Given the description of an element on the screen output the (x, y) to click on. 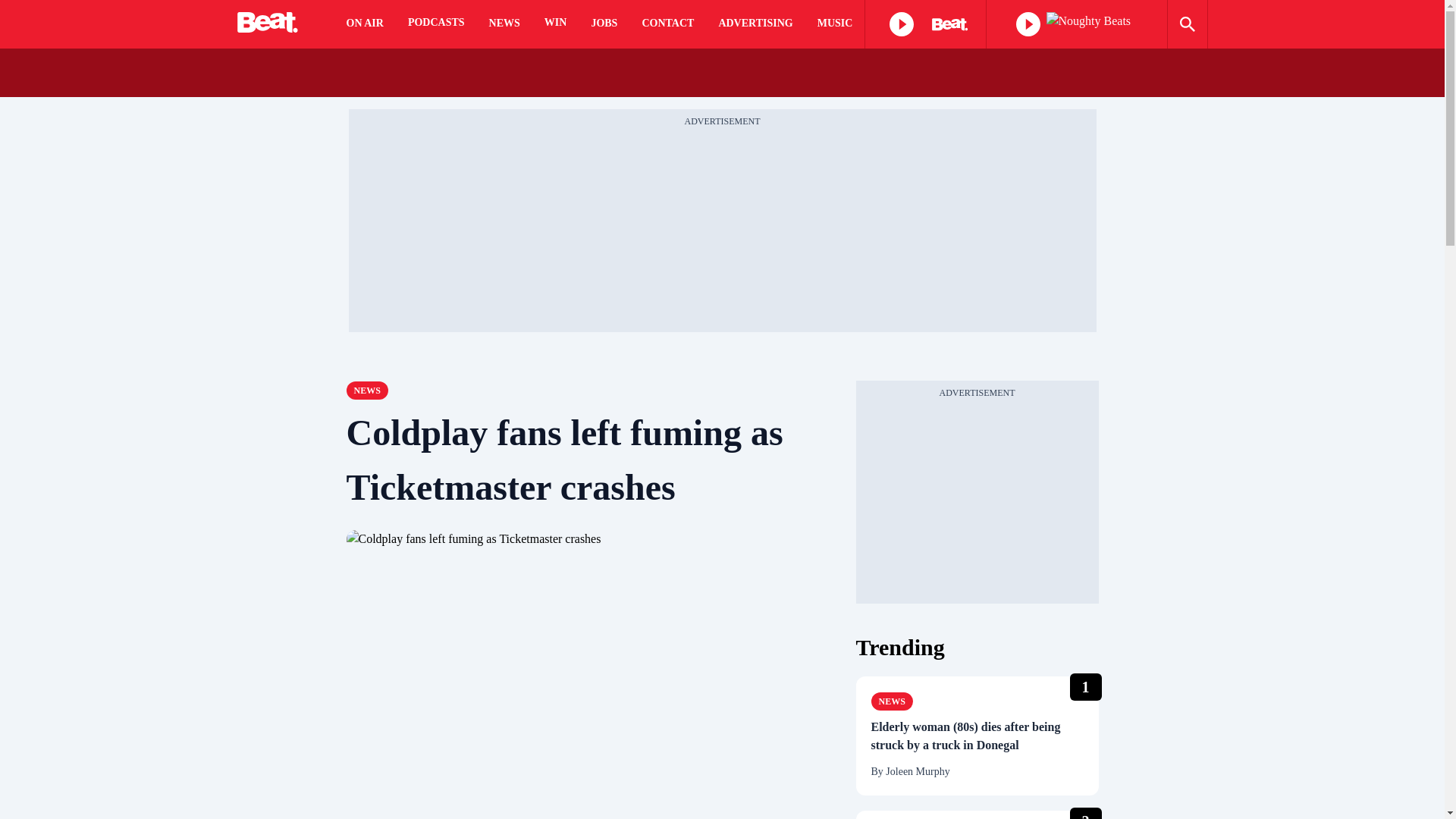
PODCASTS (435, 24)
News (891, 701)
News (366, 390)
